Given the description of an element on the screen output the (x, y) to click on. 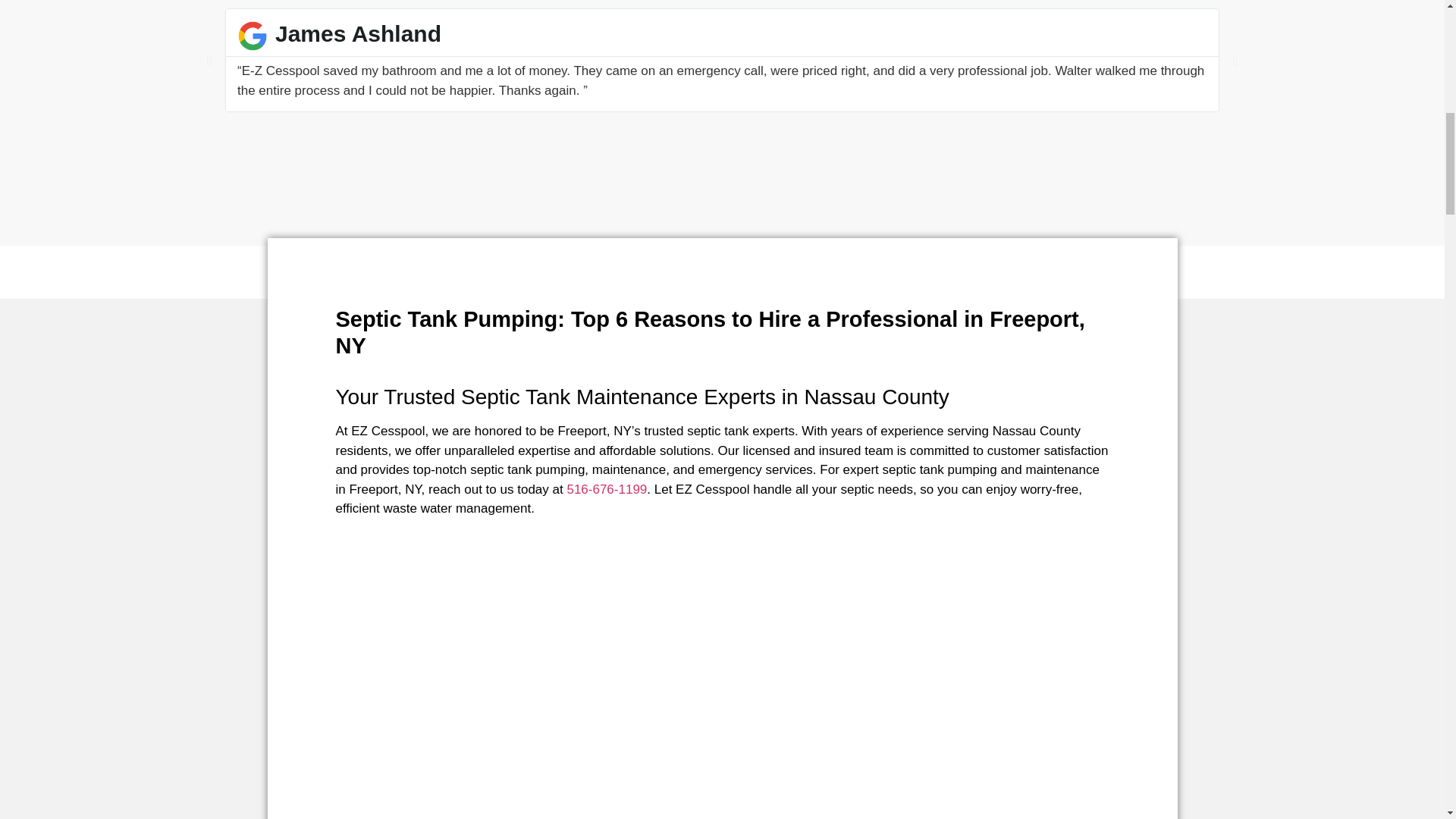
A,Male,Plumber,Opened,The,Hatch,Of,A,Water,Well (896, 714)
516-676-1199 (606, 489)
